Given the description of an element on the screen output the (x, y) to click on. 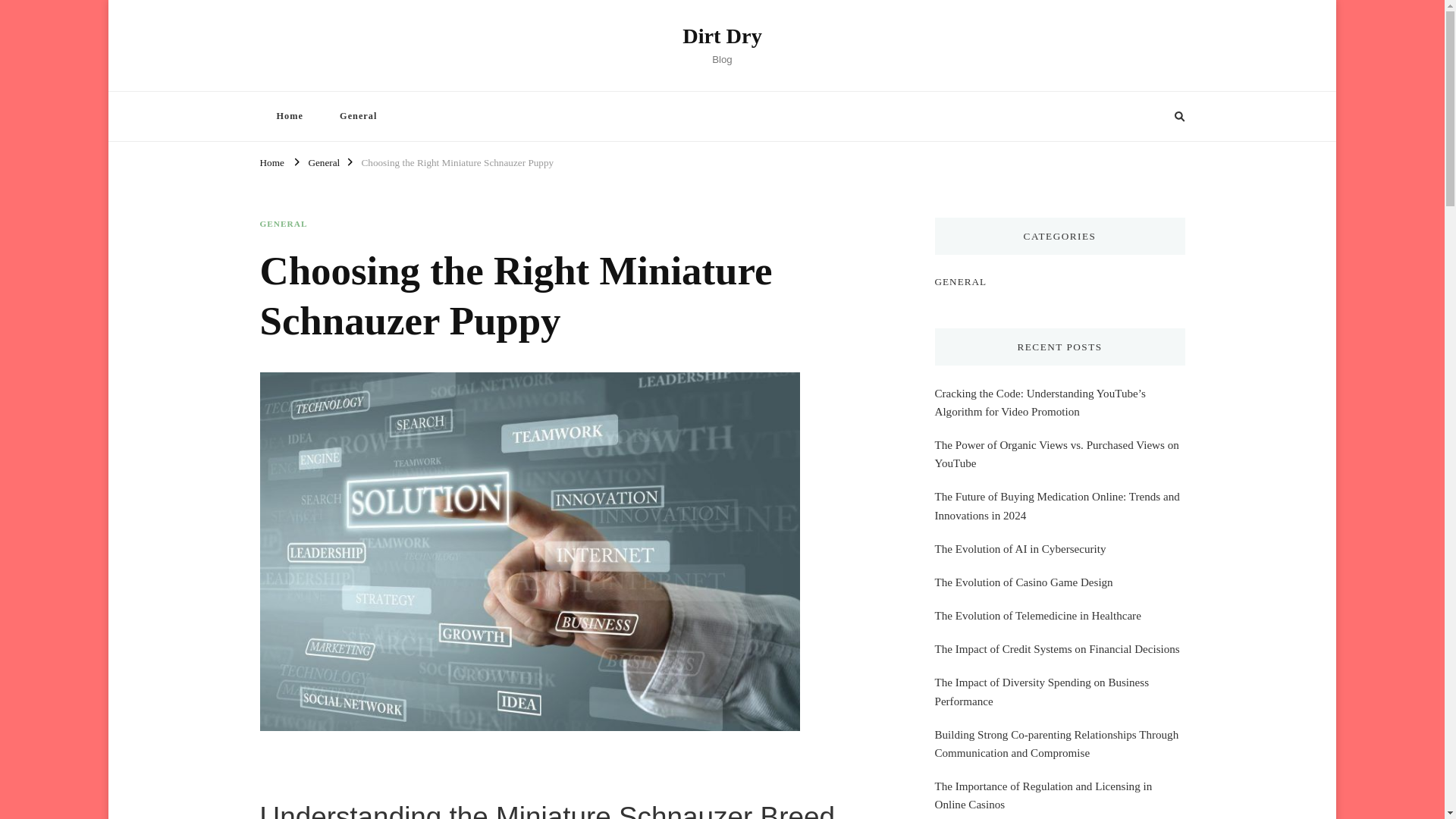
GENERAL (960, 281)
The Power of Organic Views vs. Purchased Views on YouTube (1059, 453)
The Impact of Credit Systems on Financial Decisions (1056, 648)
GENERAL (283, 223)
General (323, 161)
The Evolution of AI in Cybersecurity (1019, 548)
General (358, 115)
Home (288, 115)
The Evolution of Casino Game Design (1023, 582)
Home (271, 161)
The Evolution of Telemedicine in Healthcare (1037, 615)
Choosing the Right Miniature Schnauzer Puppy (457, 161)
Dirt Dry (721, 35)
